Given the description of an element on the screen output the (x, y) to click on. 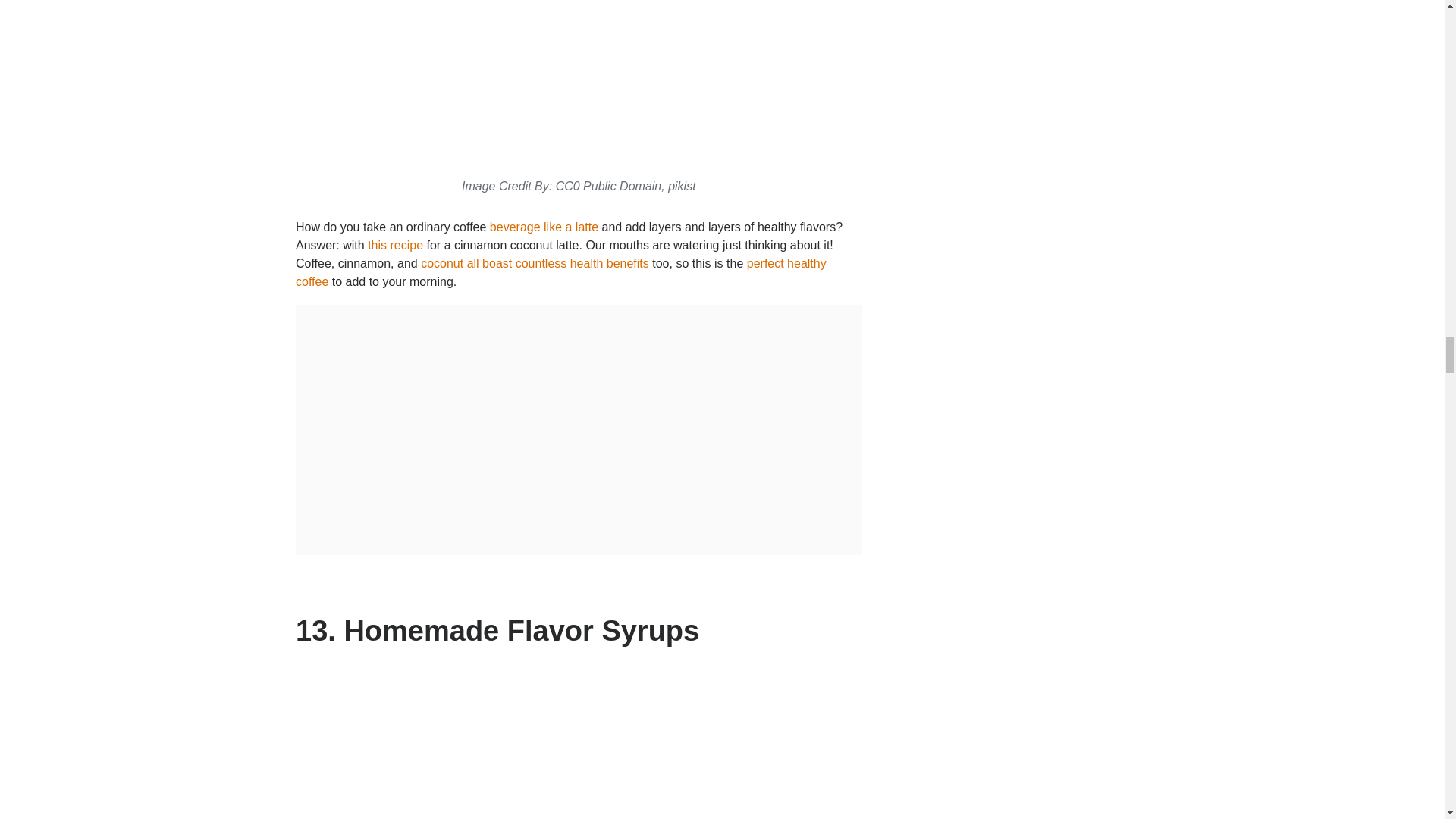
coconut all boast countless health benefits (534, 263)
this recipe (395, 245)
beverage like a latte (543, 226)
perfect healthy coffee (561, 272)
